Given the description of an element on the screen output the (x, y) to click on. 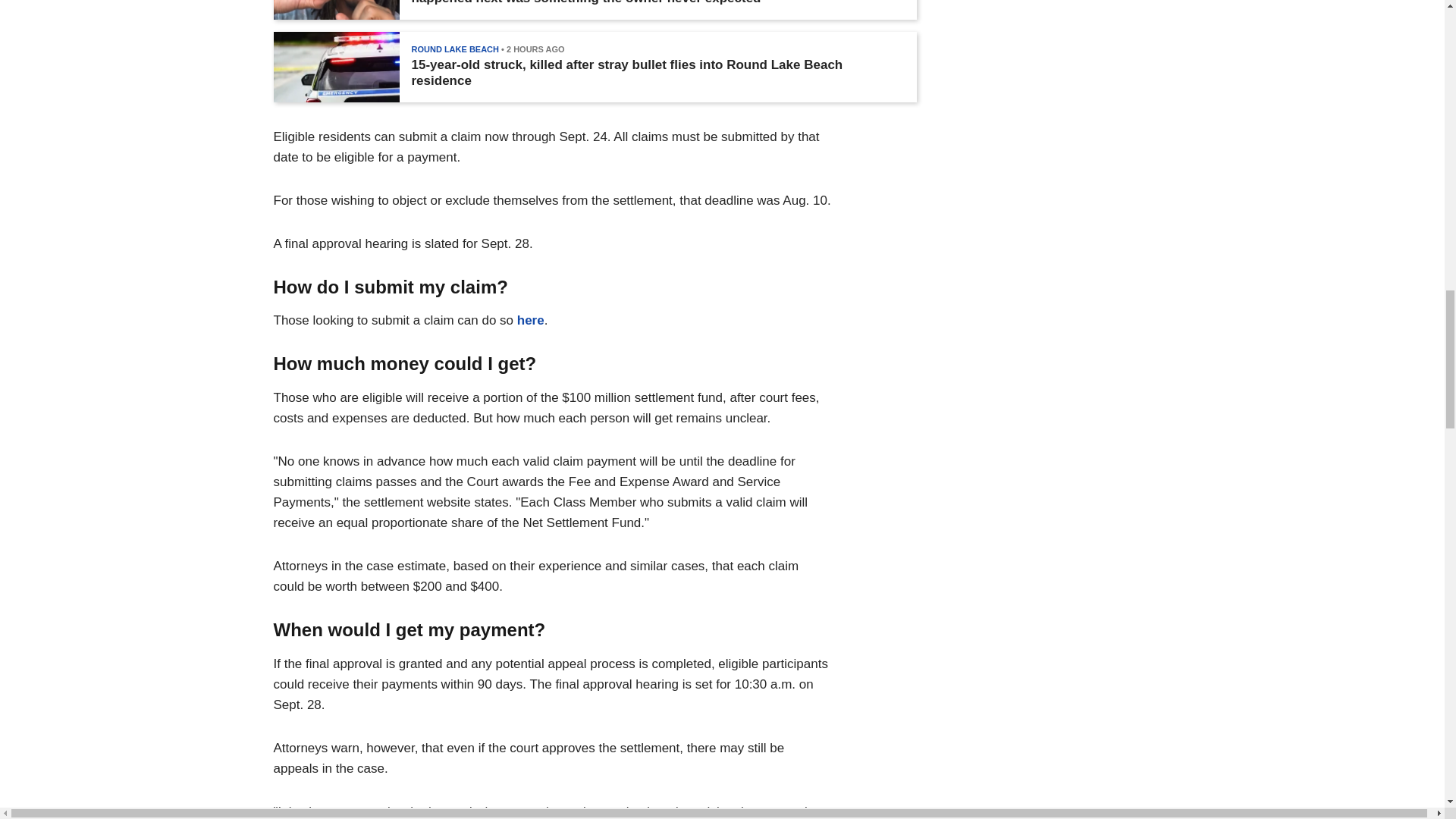
ROUND LAKE BEACH (454, 49)
